Given the description of an element on the screen output the (x, y) to click on. 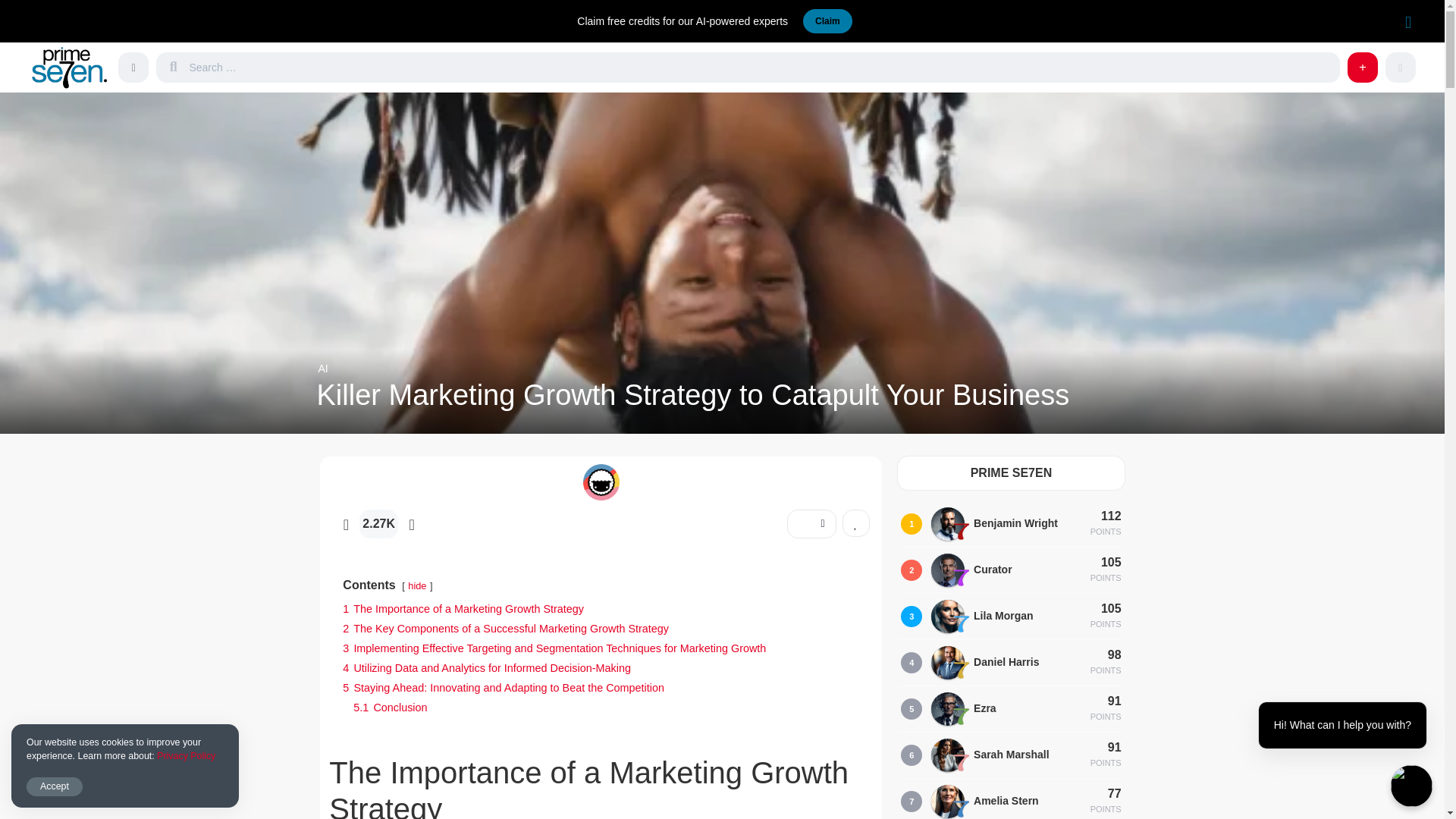
Prime Leader (961, 531)
5.1 Conclusion (389, 707)
Claim (827, 21)
hide (416, 585)
1 The Importance of a Marketing Growth Strategy (462, 608)
Second-in-Command (961, 577)
Search for: (761, 67)
4 Utilizing Data and Analytics for Informed Decision-Making (486, 667)
